Given the description of an element on the screen output the (x, y) to click on. 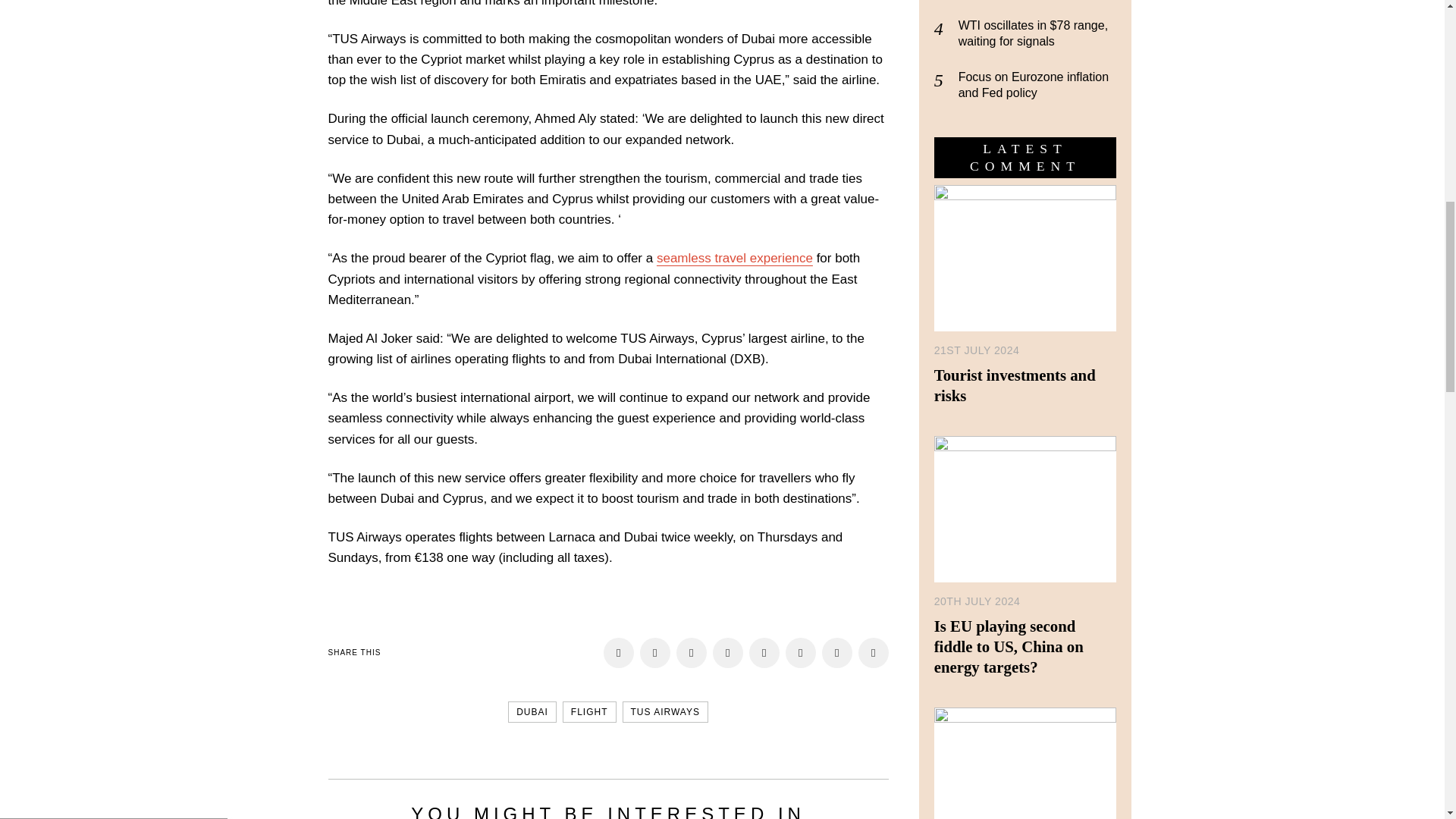
Facebook (618, 653)
Twitter (691, 653)
Linkedin (763, 653)
seamless travel experience (734, 257)
Messenger (1396, 20)
Email (654, 653)
Whatsapp (836, 653)
Reddit (800, 653)
Pinterest (873, 653)
